Given the description of an element on the screen output the (x, y) to click on. 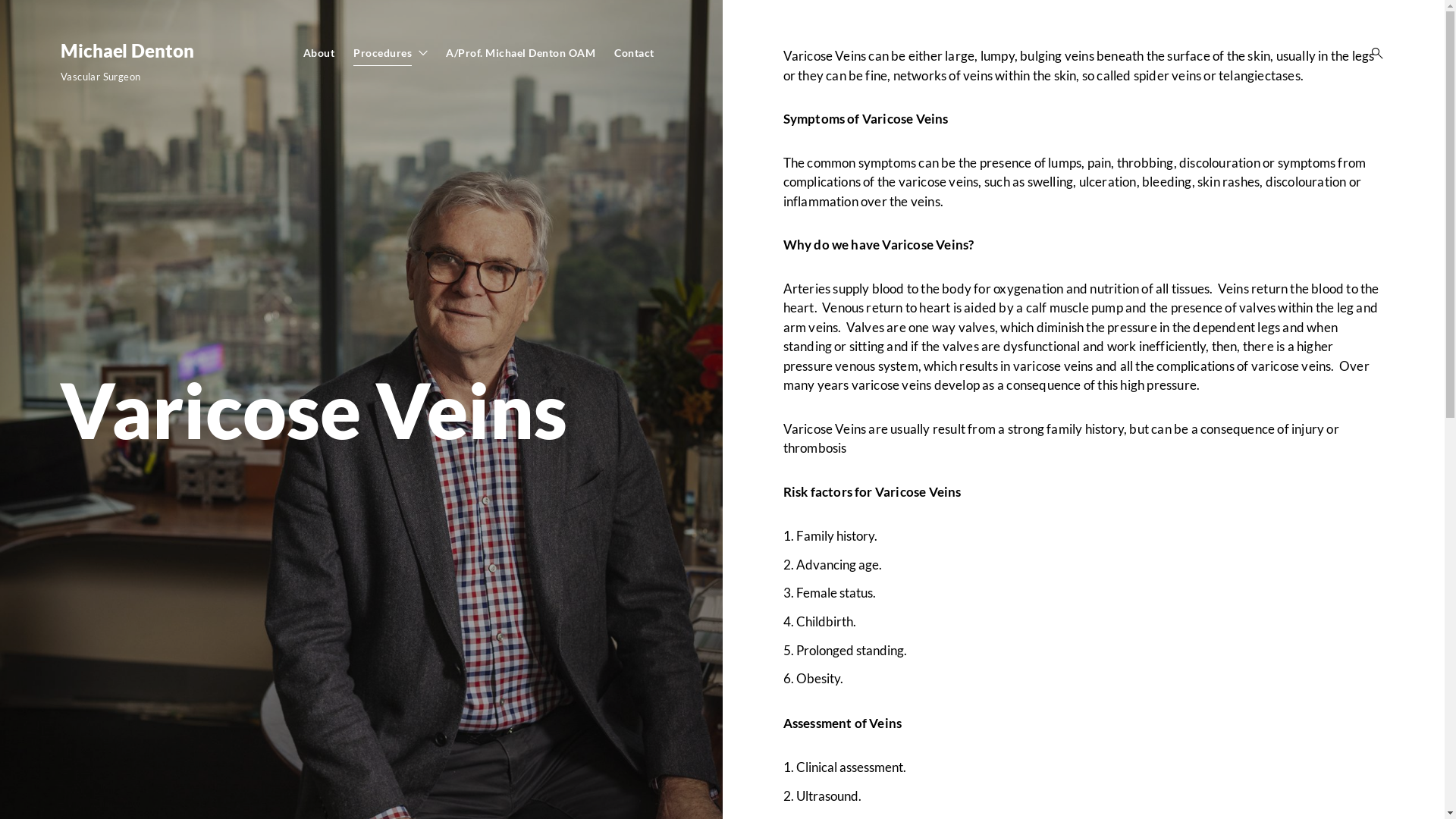
Search Element type: text (15, 15)
open search form Element type: text (1372, 52)
Michael Denton Element type: text (127, 50)
A/Prof. Michael Denton OAM Element type: text (520, 52)
Contact Element type: text (634, 52)
About Element type: text (319, 52)
Procedures Element type: text (382, 52)
